Given the description of an element on the screen output the (x, y) to click on. 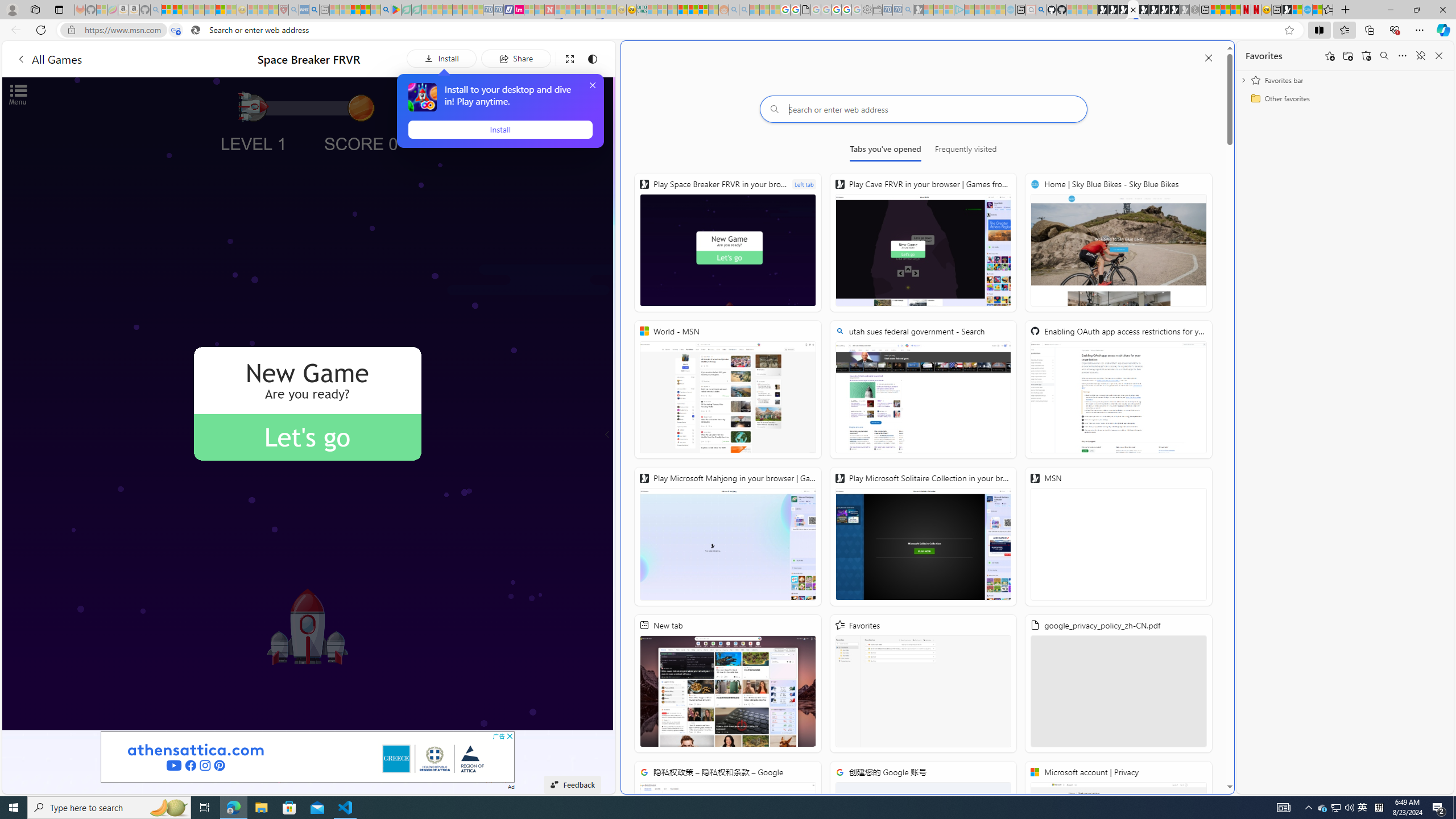
Cheap Hotels - Save70.com - Sleeping (498, 9)
New Report Confirms 2023 Was Record Hot | Watch - Sleeping (209, 9)
Expert Portfolios (682, 9)
Add folder (1347, 55)
Home | Sky Blue Bikes - Sky Blue Bikes (1307, 9)
Terms of Use Agreement - Sleeping (406, 9)
utah sues federal government - Search (922, 389)
